Given the description of an element on the screen output the (x, y) to click on. 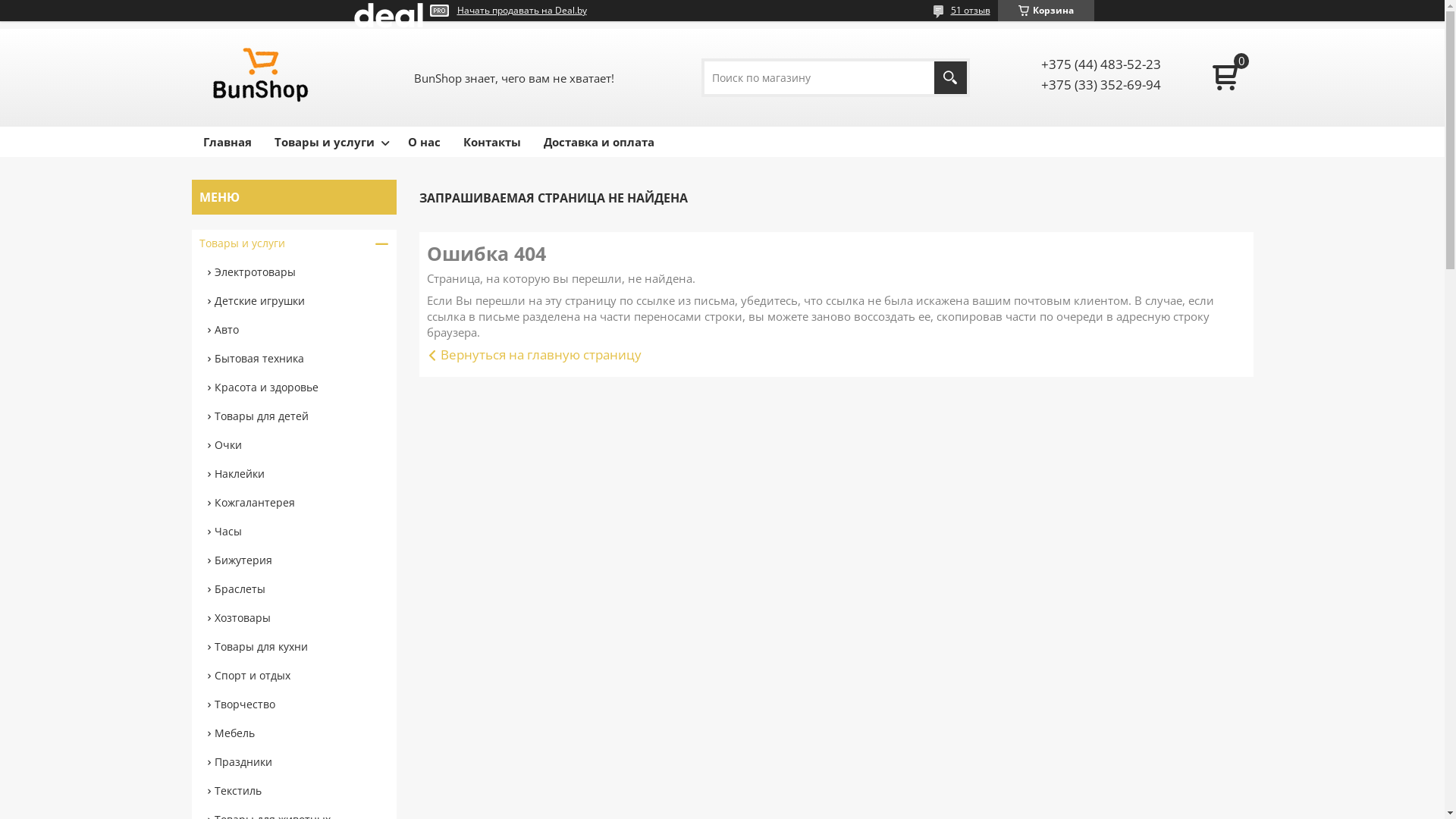
BunShop Element type: hover (261, 77)
